Given the description of an element on the screen output the (x, y) to click on. 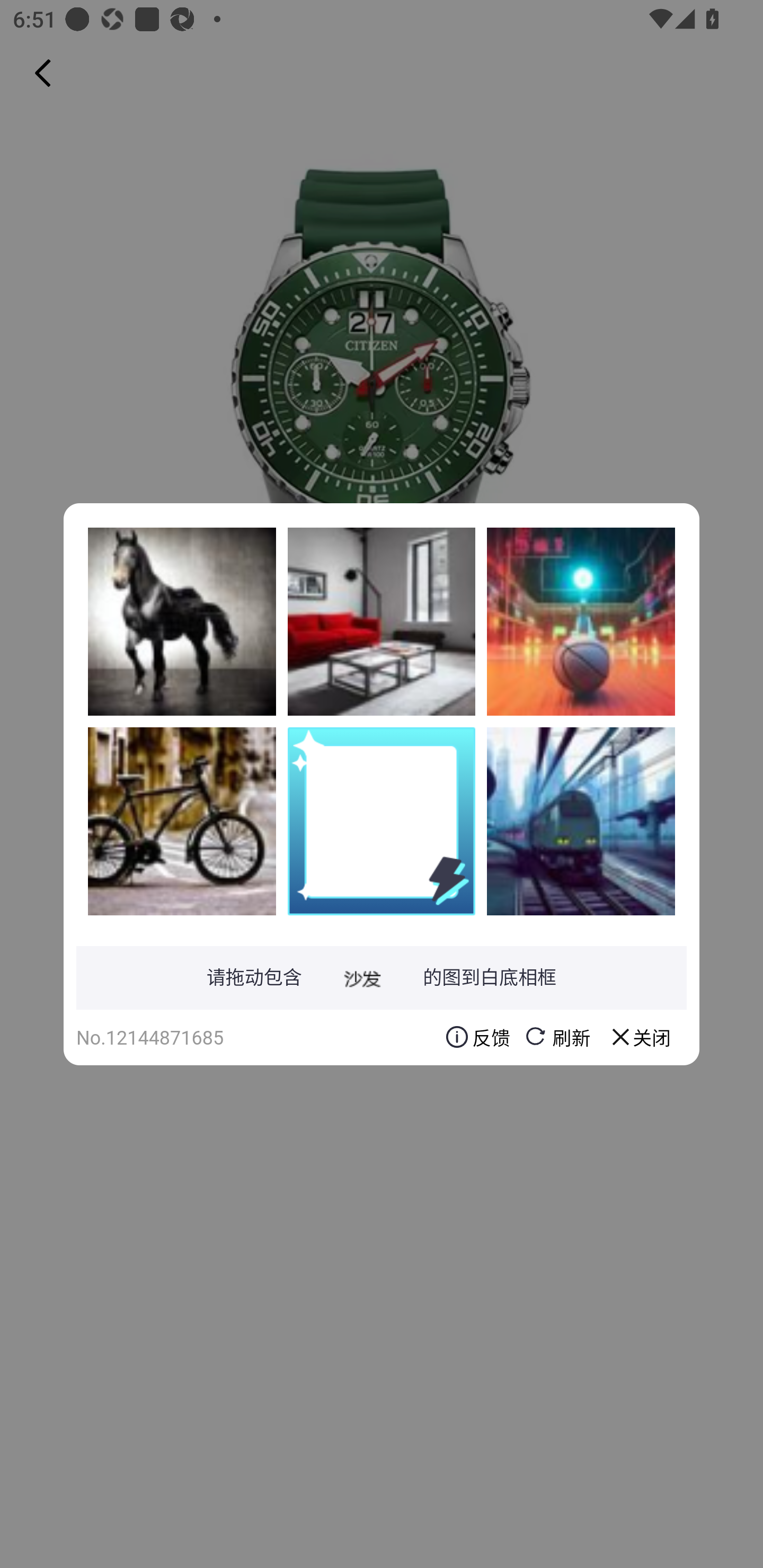
hFHD7iM9oE927H7h41sG+yxJqs0TSomio (181, 621)
MnoxONo (580, 621)
WL0mXXhvC5uIIVuT5sX91Oreat3G3tYprDe (181, 820)
YUNZJMLaDLzqcDJ60+A6 (580, 820)
